Given the description of an element on the screen output the (x, y) to click on. 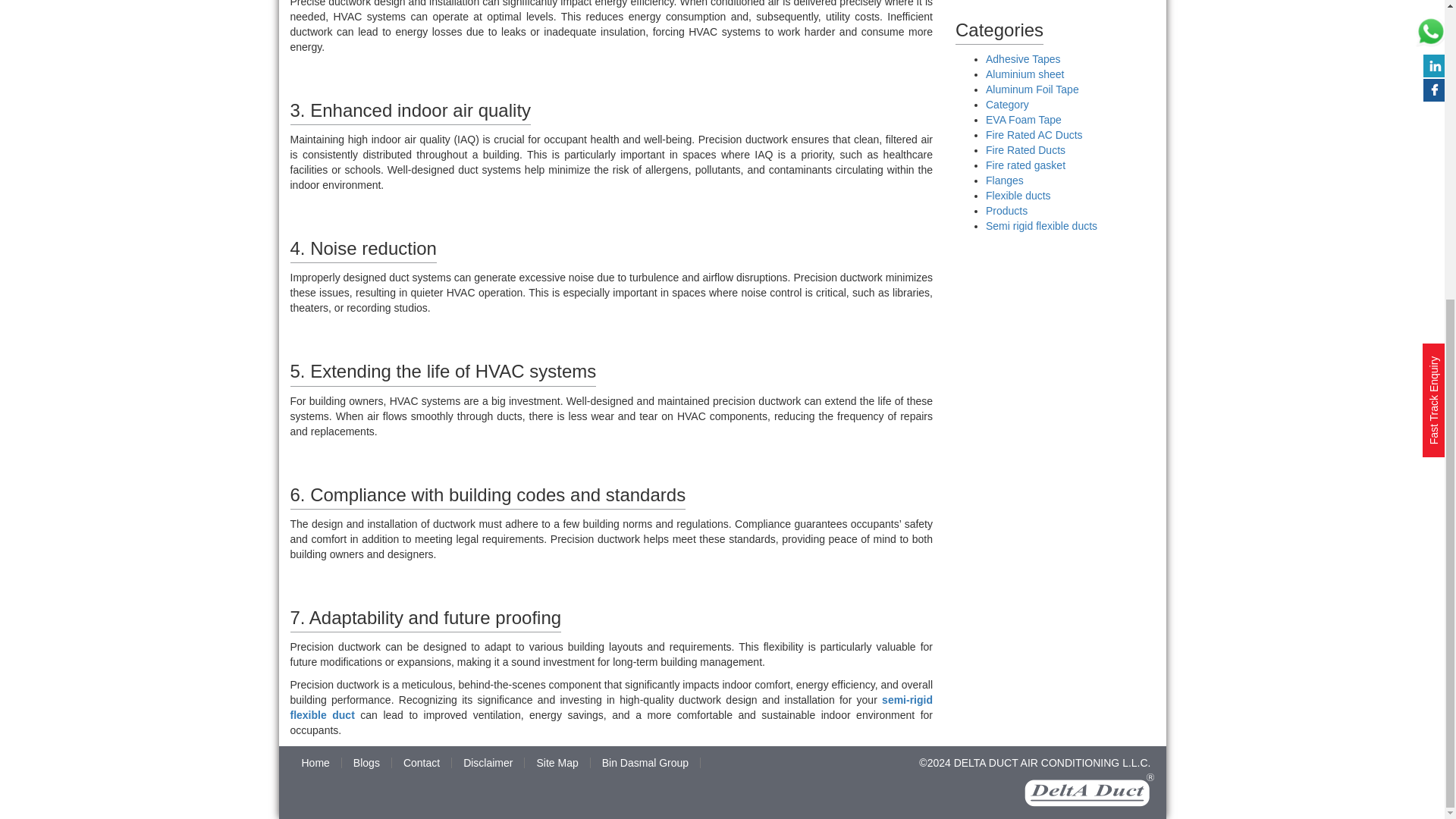
Home (314, 762)
Semi rigid flexible ducts (1041, 225)
Aluminium sheet (1024, 73)
Products (1006, 210)
Flanges (1004, 180)
Adhesive Tapes (1023, 59)
Fire rated gasket (1025, 164)
Aluminum Foil Tape (1031, 89)
Category (1007, 104)
semi-rigid flexible duct (611, 707)
